Given the description of an element on the screen output the (x, y) to click on. 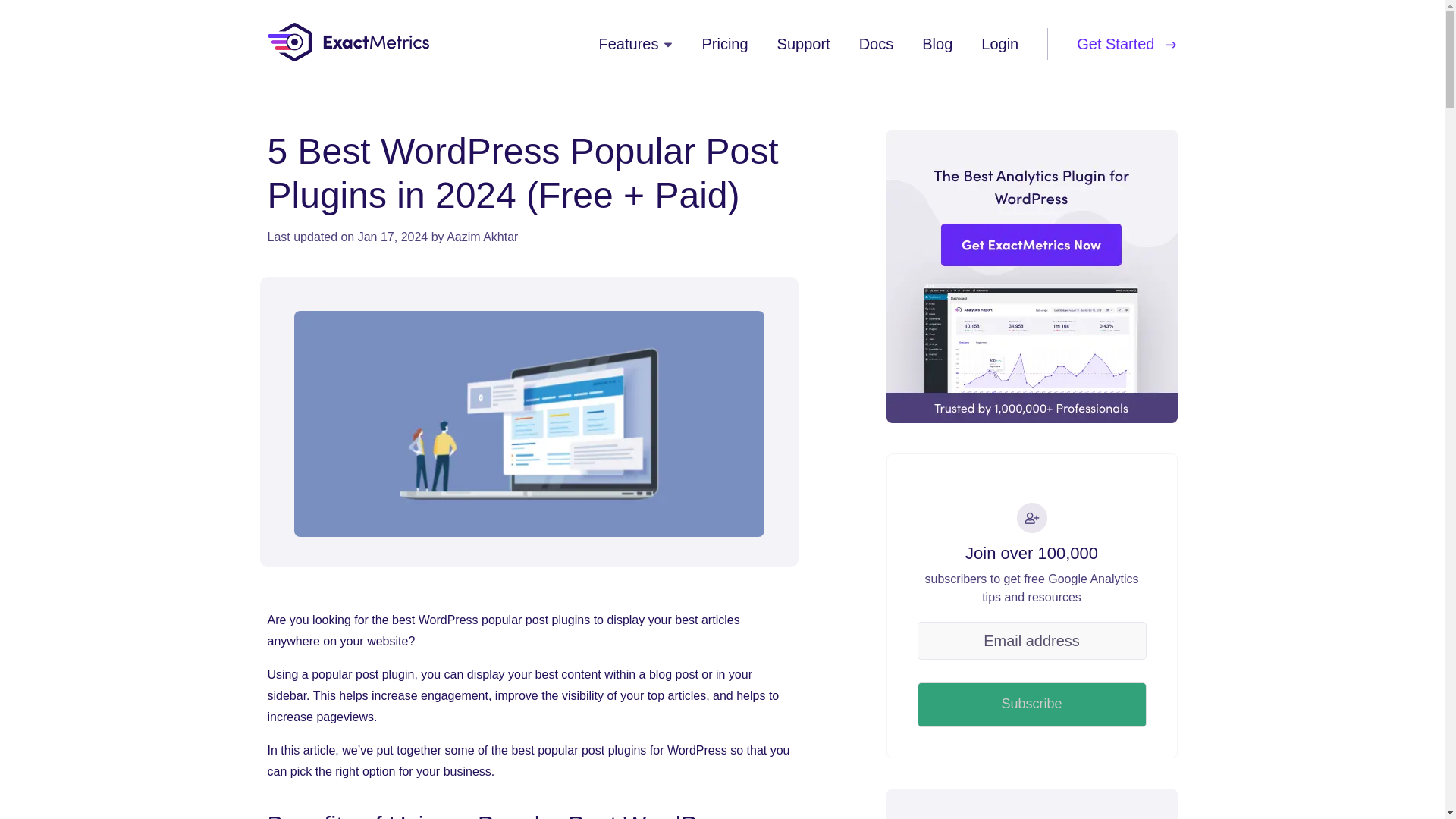
Get Started (1126, 43)
Pricing (724, 43)
Features (635, 43)
Support (803, 43)
Blog (936, 43)
Login (999, 43)
best wordpress popular post plugins - ExactMetrics (529, 424)
Docs (876, 43)
banner - ExactMetrics (1030, 276)
